Given the description of an element on the screen output the (x, y) to click on. 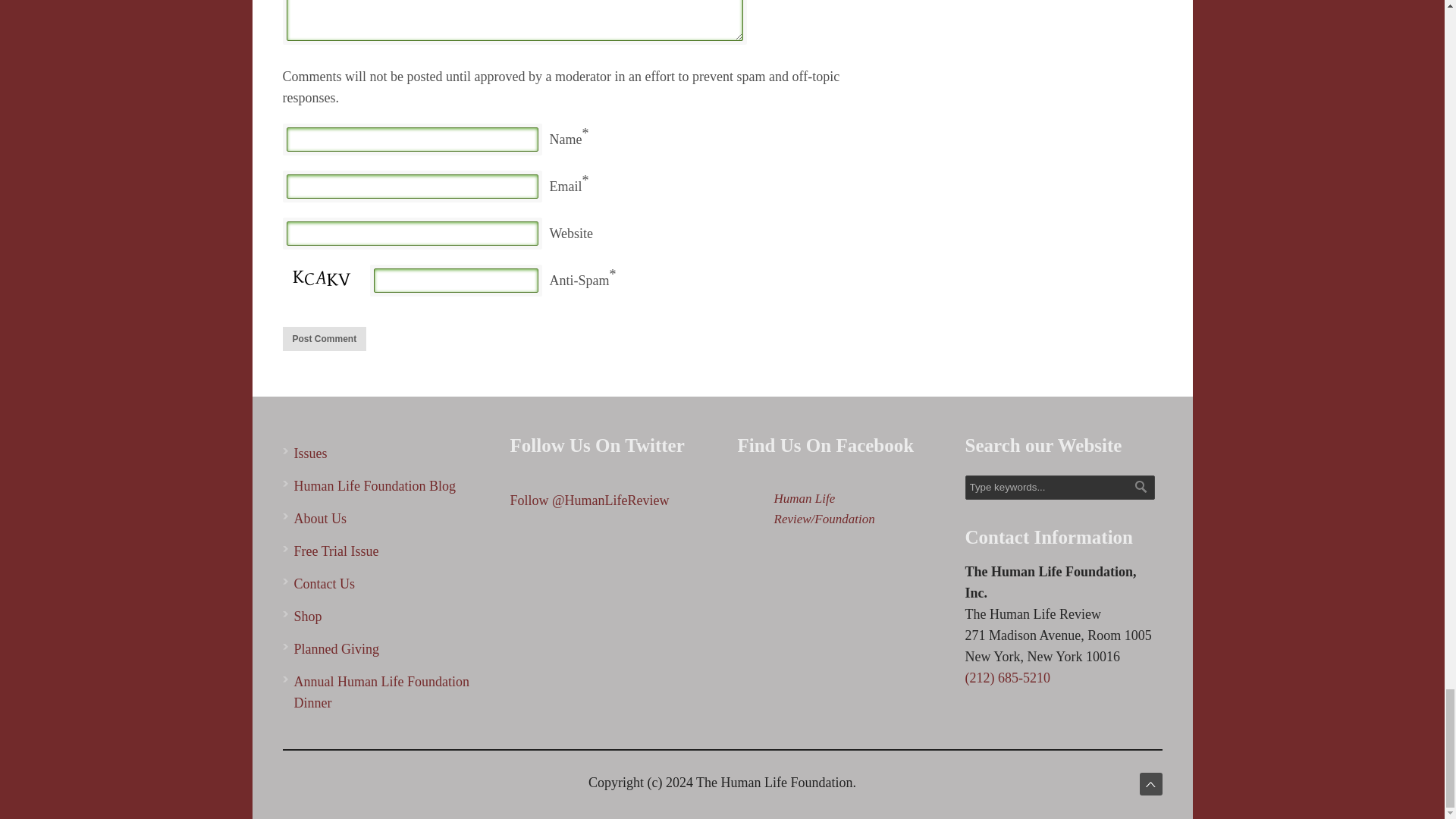
Type keywords... (1058, 487)
Post Comment (324, 338)
